Given the description of an element on the screen output the (x, y) to click on. 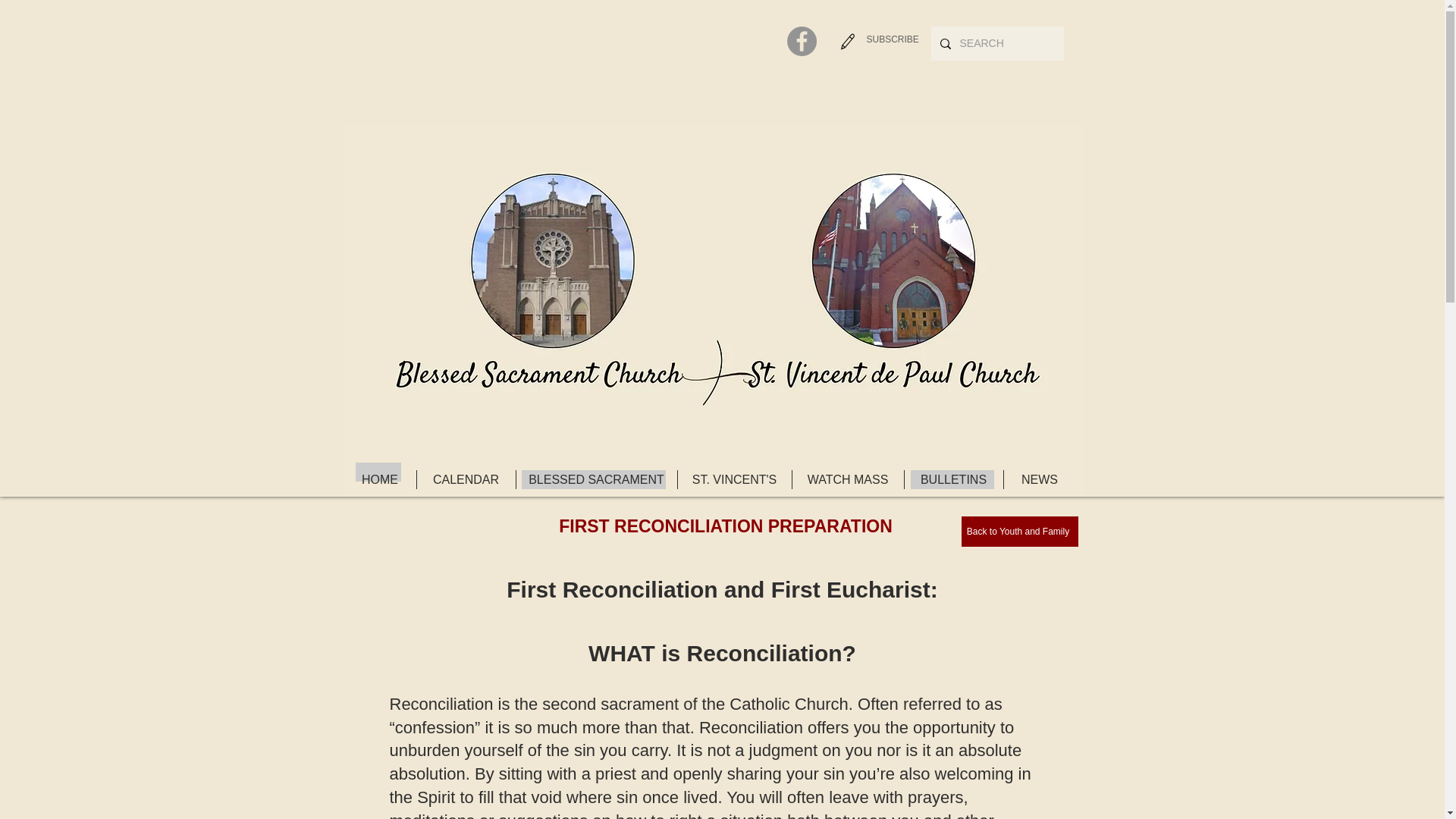
SUBSCRIBE (892, 39)
HOME (379, 479)
WATCH MASS (847, 479)
CALENDAR (465, 479)
